Given the description of an element on the screen output the (x, y) to click on. 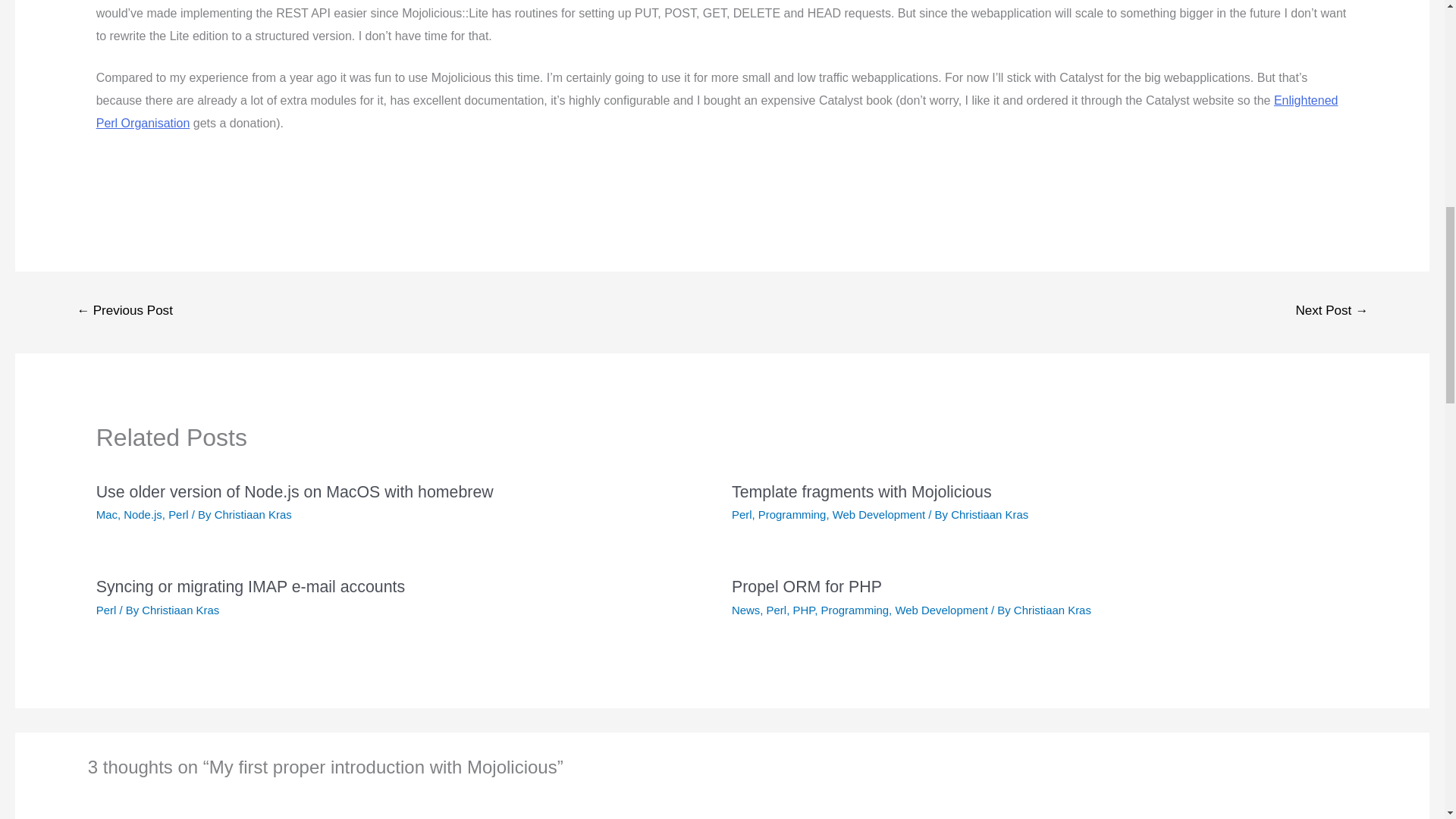
View all posts by Christiaan Kras (253, 513)
View all posts by Christiaan Kras (988, 513)
View all posts by Christiaan Kras (1051, 609)
View all posts by Christiaan Kras (180, 609)
